Given the description of an element on the screen output the (x, y) to click on. 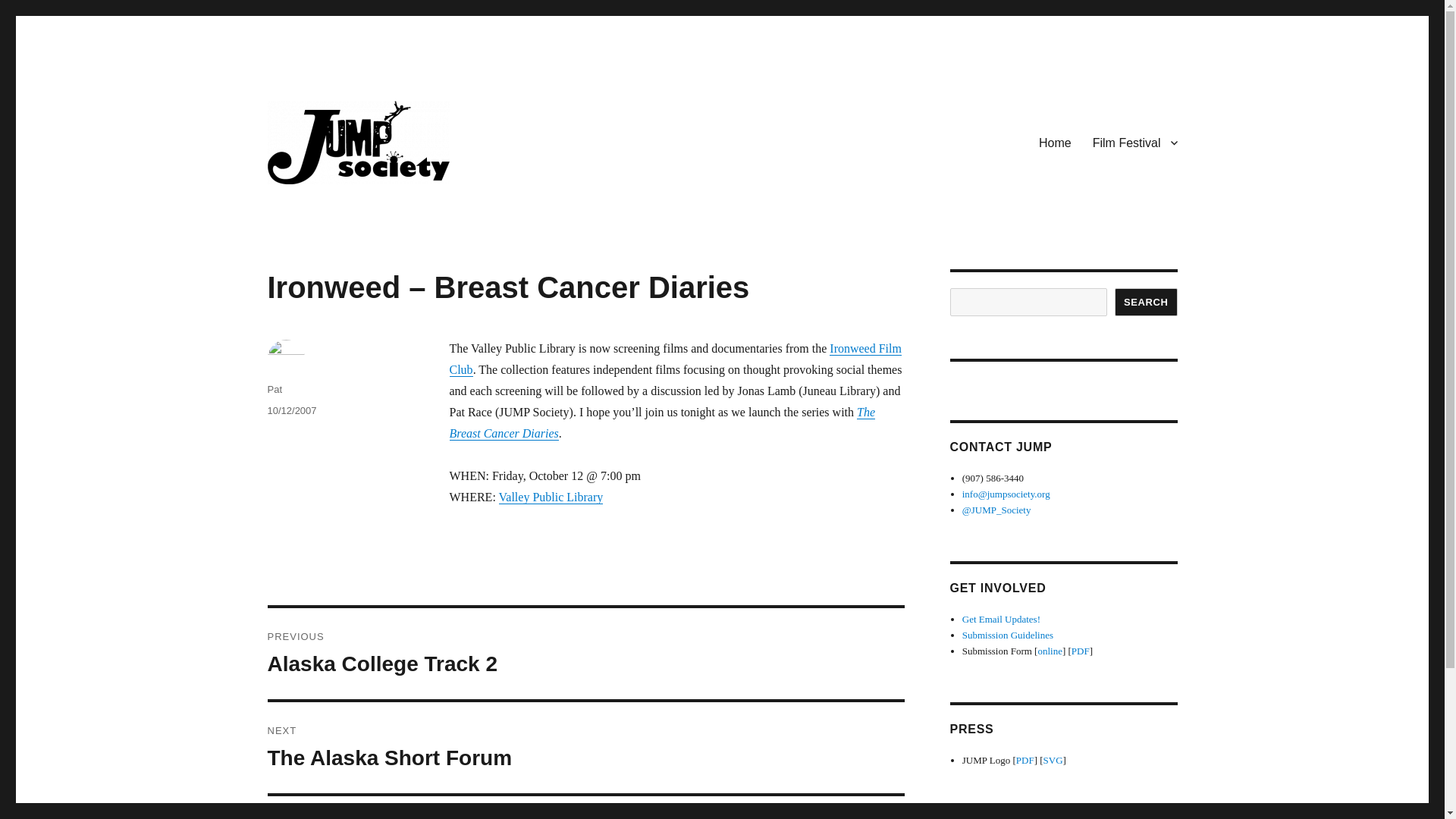
The Breast Cancer Diaries (661, 422)
Submission Guidelines (1007, 634)
Home (1054, 142)
Pat (274, 389)
Get Email Updates! (1001, 618)
Ironweed Film Club (674, 358)
online (1049, 650)
Film Festival (1134, 142)
JUMP Society (336, 208)
SVG (1052, 759)
PDF (1080, 650)
Valley Public Library (551, 496)
PDF (1024, 759)
